Given the description of an element on the screen output the (x, y) to click on. 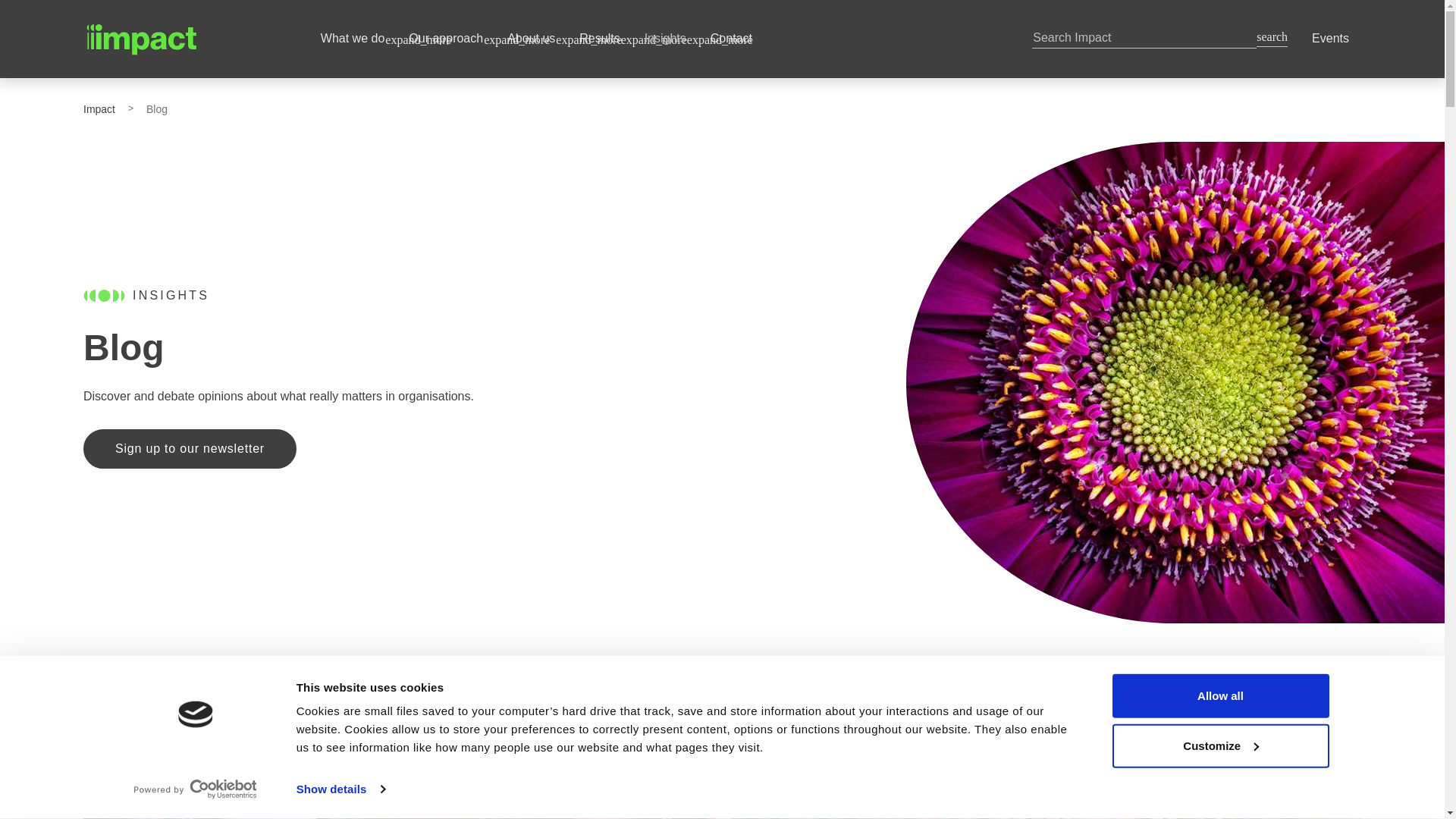
Show details (340, 789)
Home (189, 38)
